Given the description of an element on the screen output the (x, y) to click on. 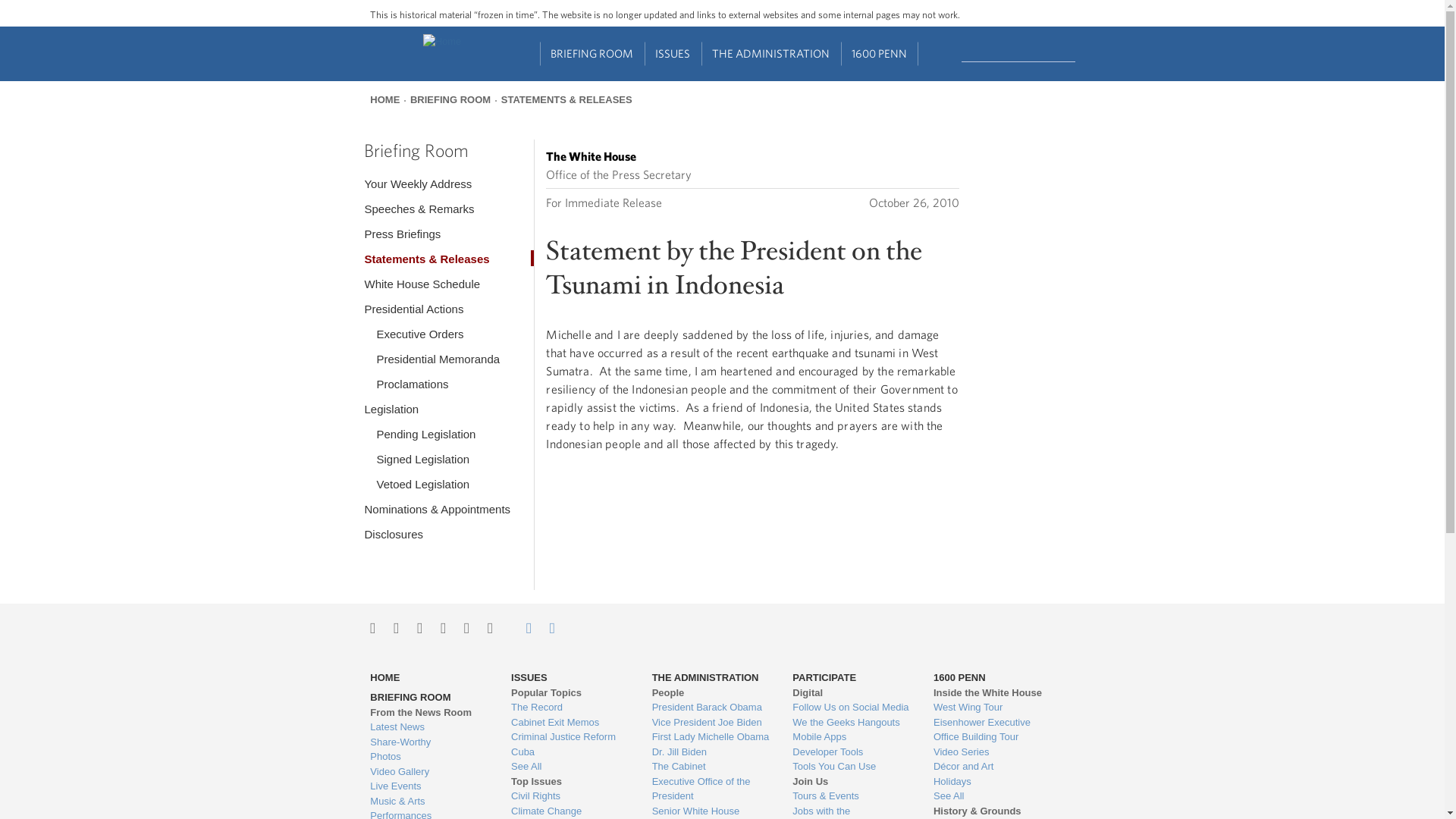
Check out the most popular infographics and videos (428, 742)
Enter the terms you wish to search for. (1017, 52)
Watch behind-the-scenes videos and more (428, 771)
View the photo of the day and other galleries (428, 756)
Contact the Whitehouse. (521, 627)
Search (1076, 51)
Home (442, 41)
BRIEFING ROOM (592, 53)
Read the latest blog posts from 1600 Pennsylvania Ave (428, 726)
ISSUES (673, 53)
